Given the description of an element on the screen output the (x, y) to click on. 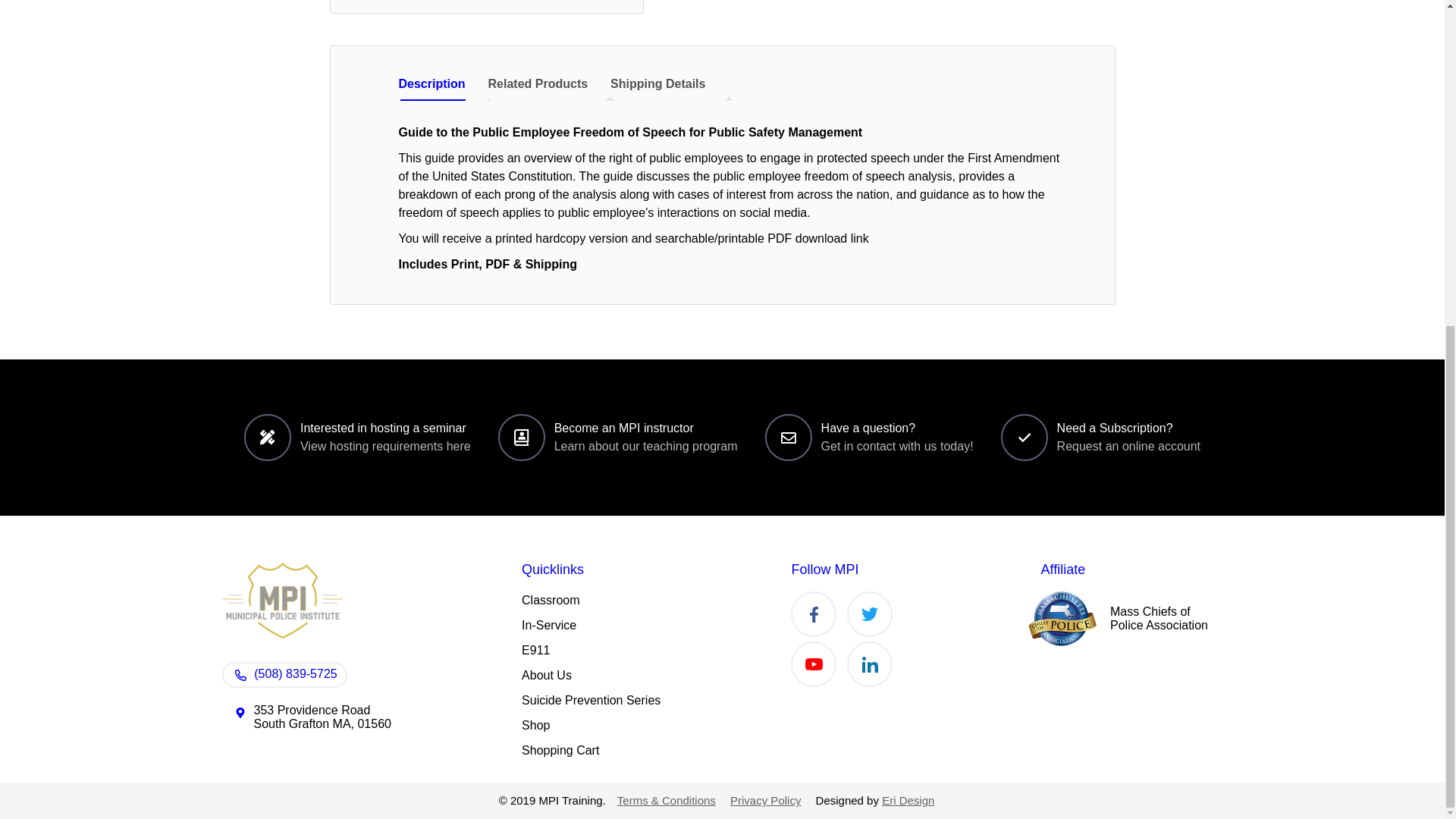
Guide to Public Employee Freedom of Speech (486, 6)
